Given the description of an element on the screen output the (x, y) to click on. 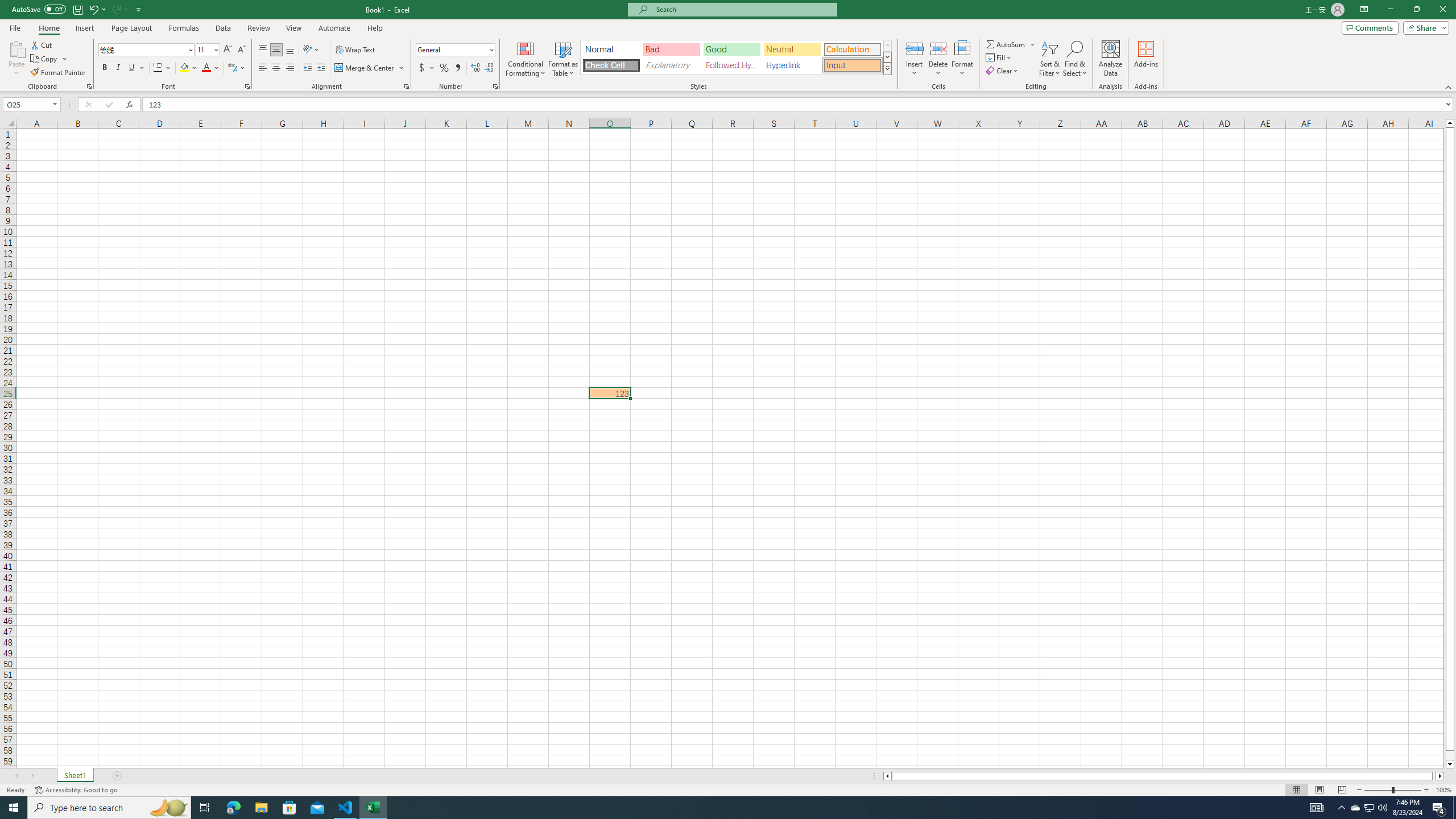
Font Size (204, 49)
Bad (671, 49)
Comma Style (457, 67)
Font (147, 49)
Fill Color (188, 67)
Format as Table (563, 58)
Increase Indent (320, 67)
Paste (16, 58)
Delete Cells... (938, 48)
